Given the description of an element on the screen output the (x, y) to click on. 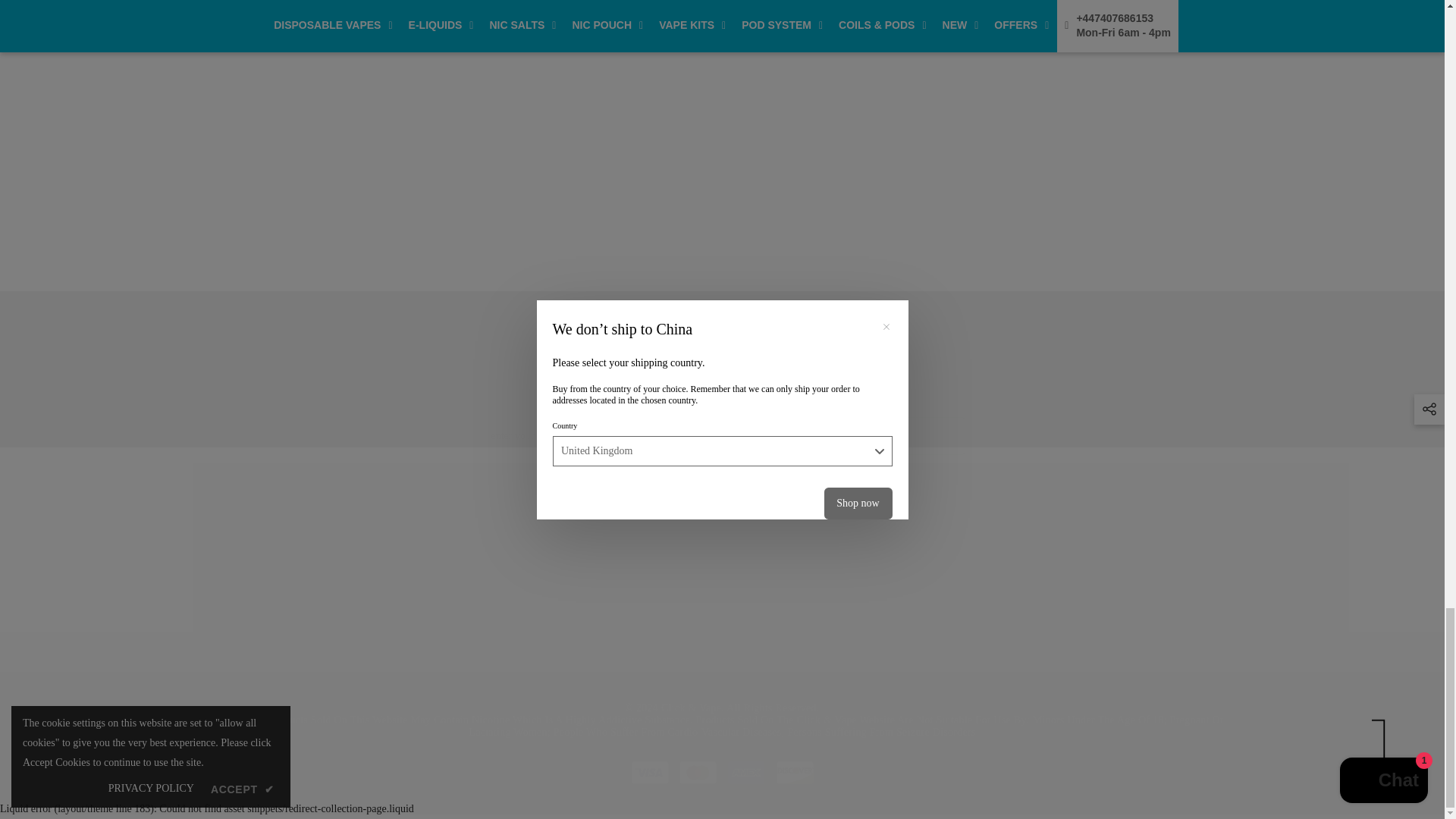
Visa (509, 581)
Discover (649, 772)
RECENTLY VIEWED PRODUCTS (794, 772)
Mastercard (934, 581)
Get updates on upcoming vape products (697, 772)
American Express (721, 435)
